Given the description of an element on the screen output the (x, y) to click on. 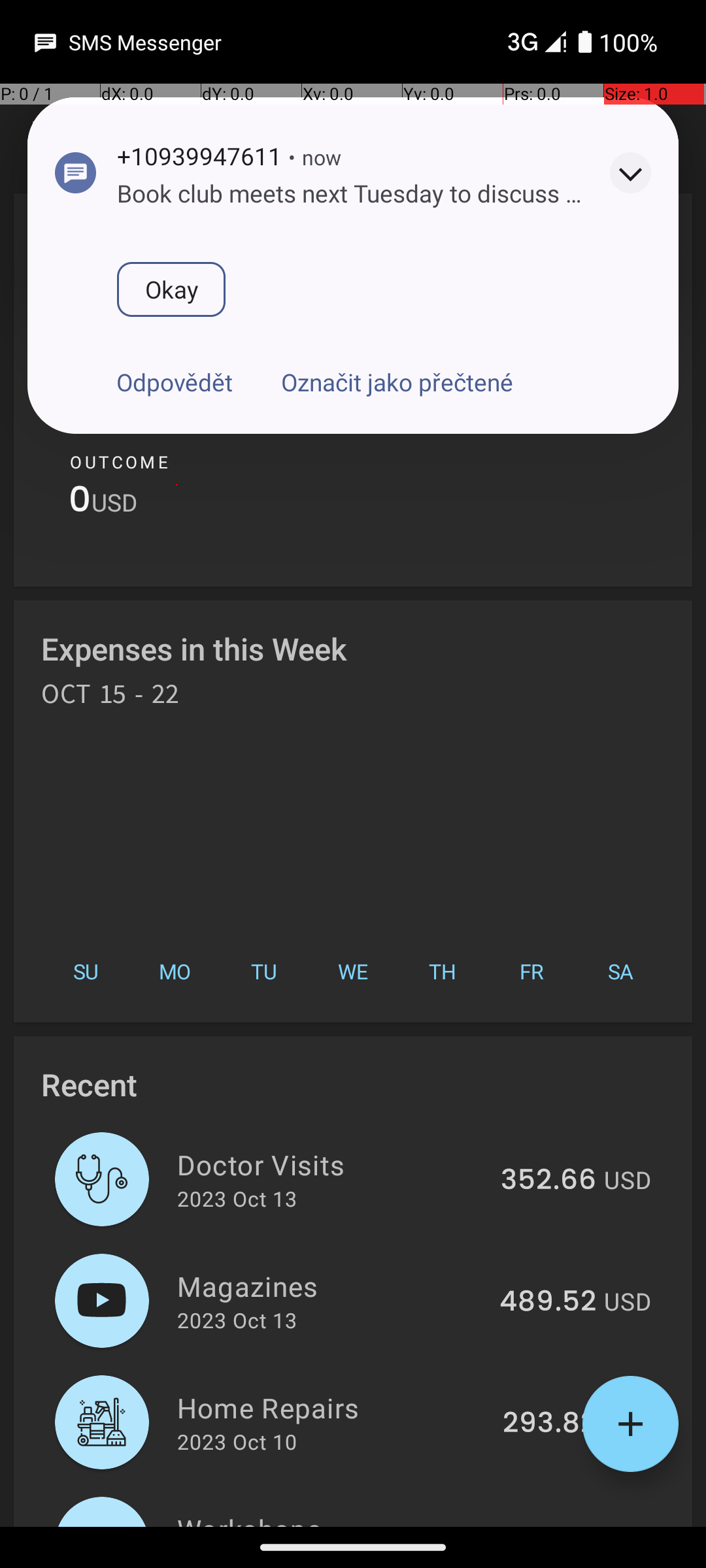
352.66 Element type: android.widget.TextView (548, 1180)
Magazines Element type: android.widget.TextView (330, 1285)
489.52 Element type: android.widget.TextView (547, 1301)
Home Repairs Element type: android.widget.TextView (332, 1407)
293.82 Element type: android.widget.TextView (549, 1423)
Workshops Element type: android.widget.TextView (333, 1518)
418.89 Element type: android.widget.TextView (550, 1524)
Okay Element type: android.widget.Button (171, 289)
Odpovědět Element type: android.widget.Button (174, 382)
Označit jako přečtené Element type: android.widget.Button (396, 382)
Winter is coming. Element type: android.widget.TextView (210, 192)
When in Rome, do as the Romans do. Element type: android.widget.TextView (315, 192)
+10939947611 Element type: android.widget.TextView (199, 155)
+16010363371 Element type: android.widget.TextView (199, 155)
+15748159013 Element type: android.widget.TextView (199, 155)
